Given the description of an element on the screen output the (x, y) to click on. 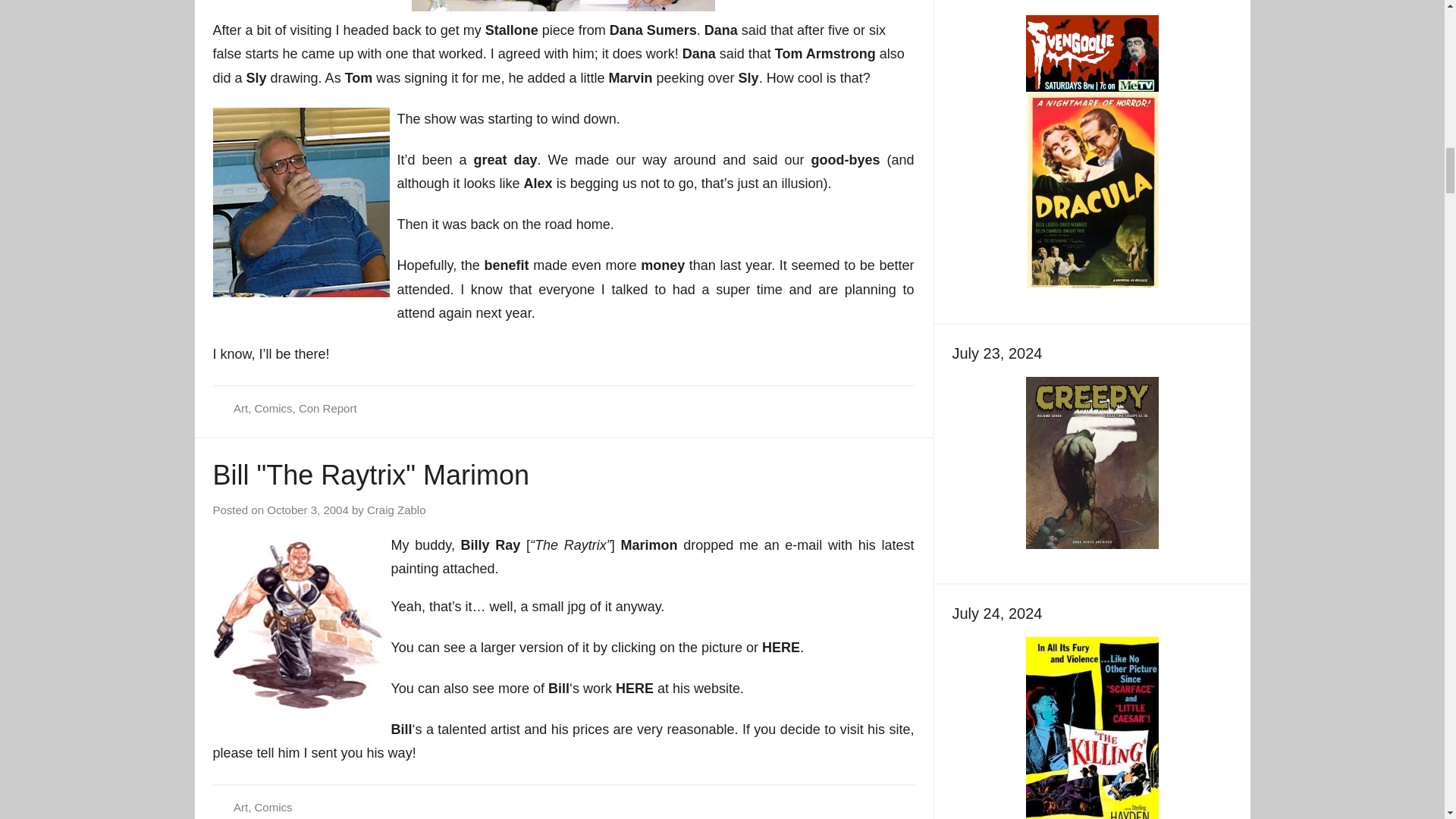
Comics (273, 408)
Art (239, 408)
View all posts by Craig Zablo (396, 509)
